Given the description of an element on the screen output the (x, y) to click on. 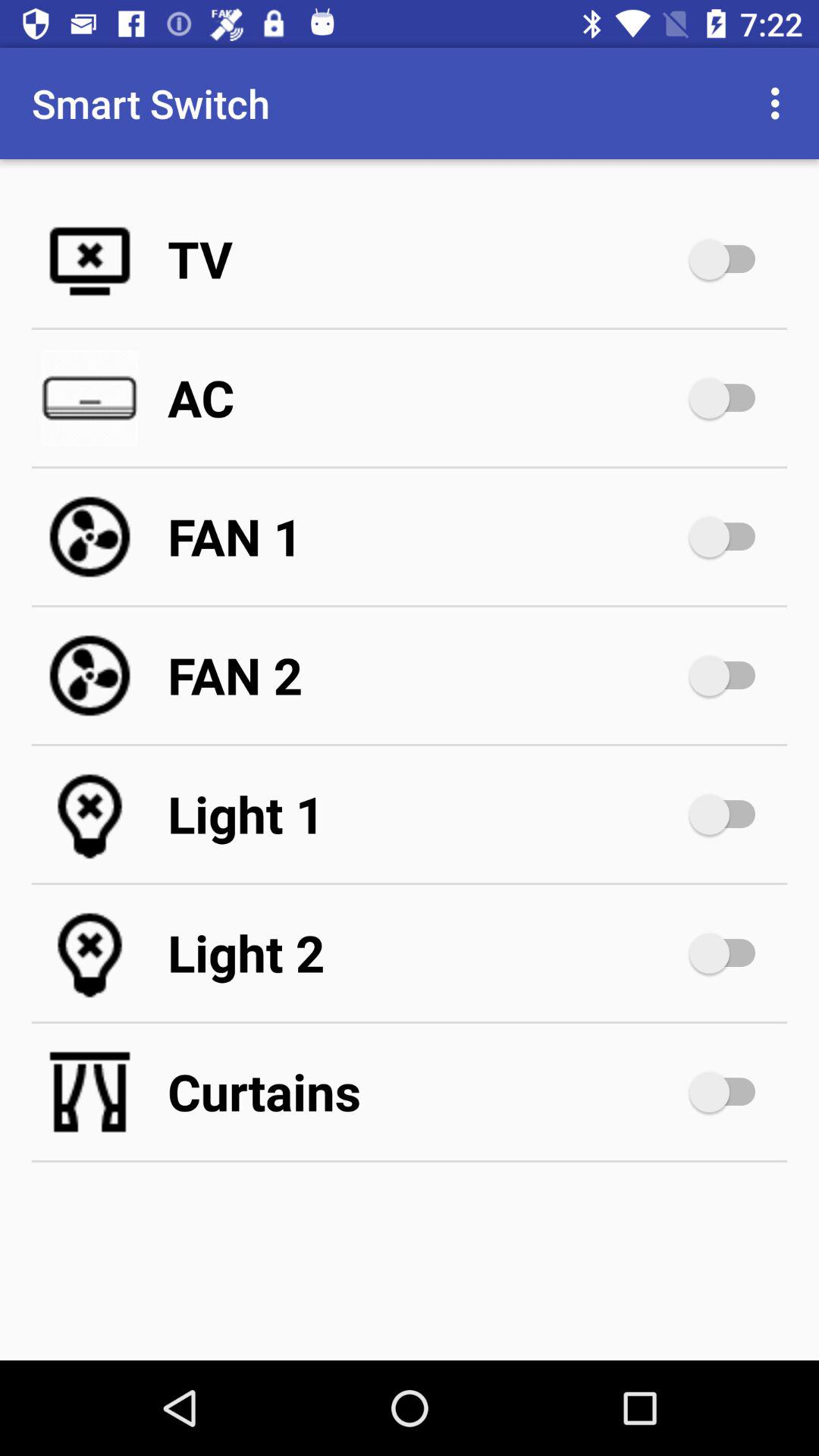
choose icon below the fan 2 icon (424, 814)
